Given the description of an element on the screen output the (x, y) to click on. 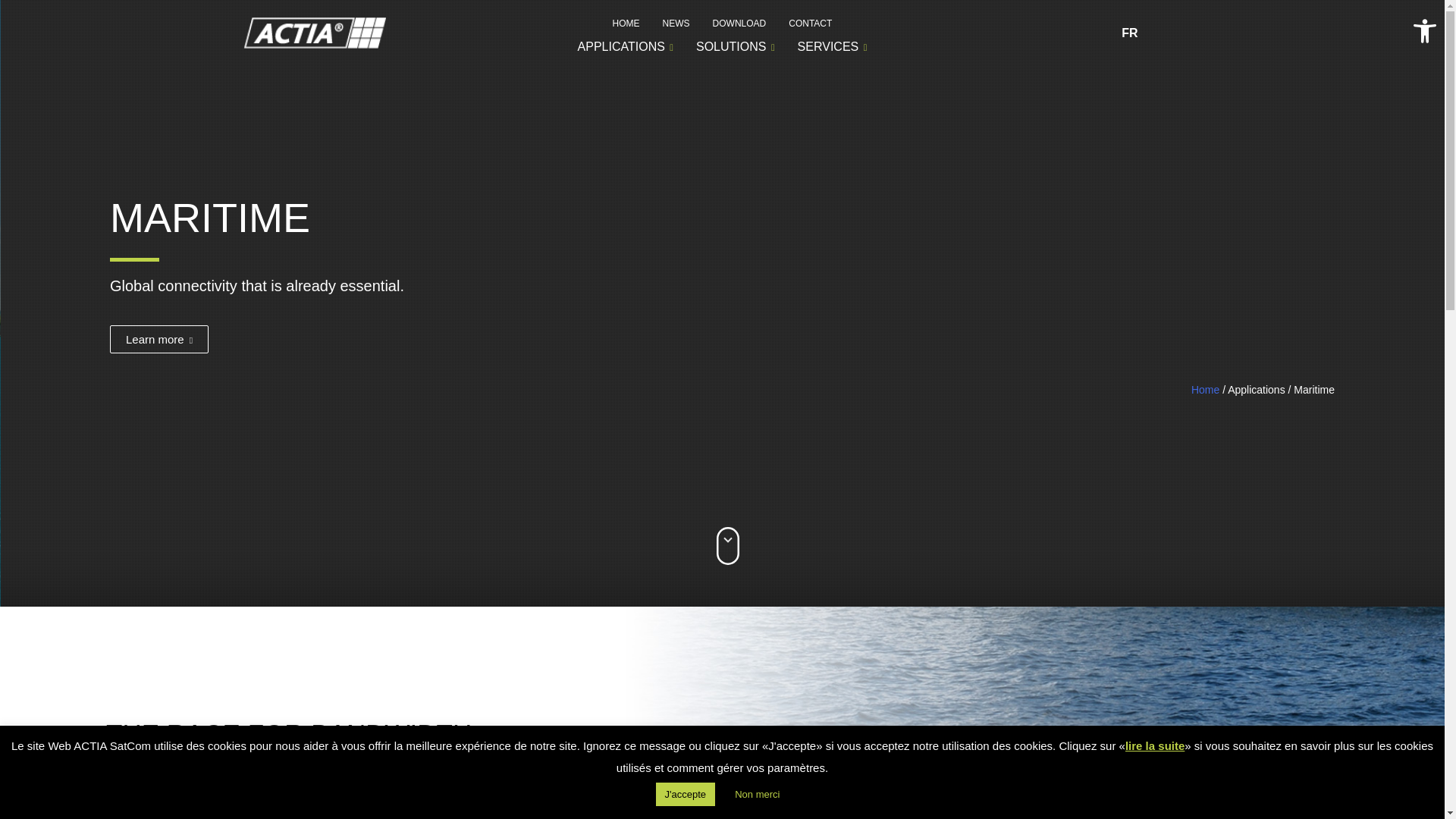
APPLICATIONS (625, 47)
Home (1205, 389)
HOME (625, 23)
FR (1125, 32)
Accessibility Tools (1424, 30)
CONTACT (810, 23)
SERVICES (832, 47)
SOLUTIONS (735, 47)
Learn more (159, 338)
NEWS (675, 23)
DOWNLOAD (739, 23)
